Given the description of an element on the screen output the (x, y) to click on. 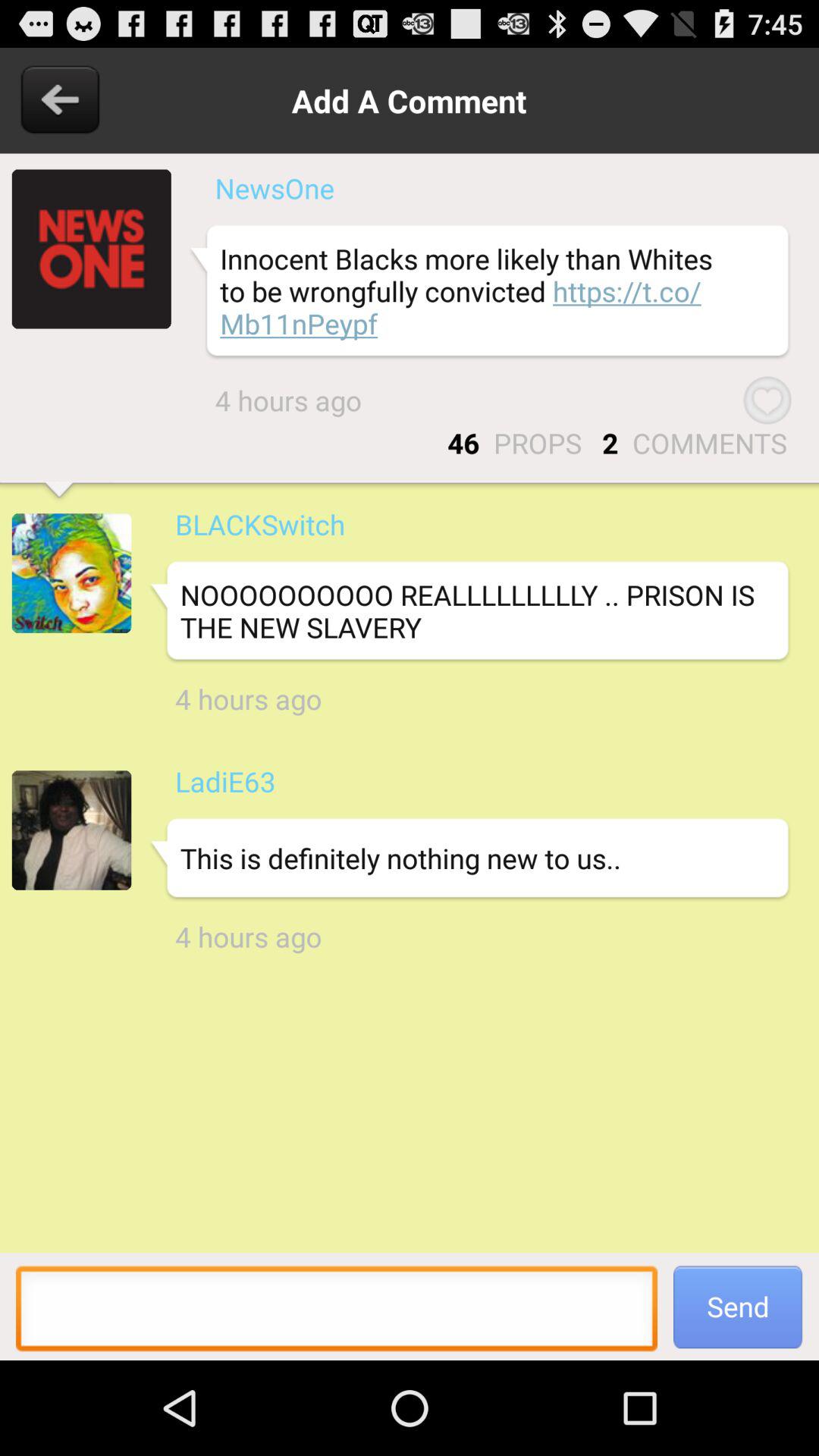
open ladie63 app (225, 781)
